Given the description of an element on the screen output the (x, y) to click on. 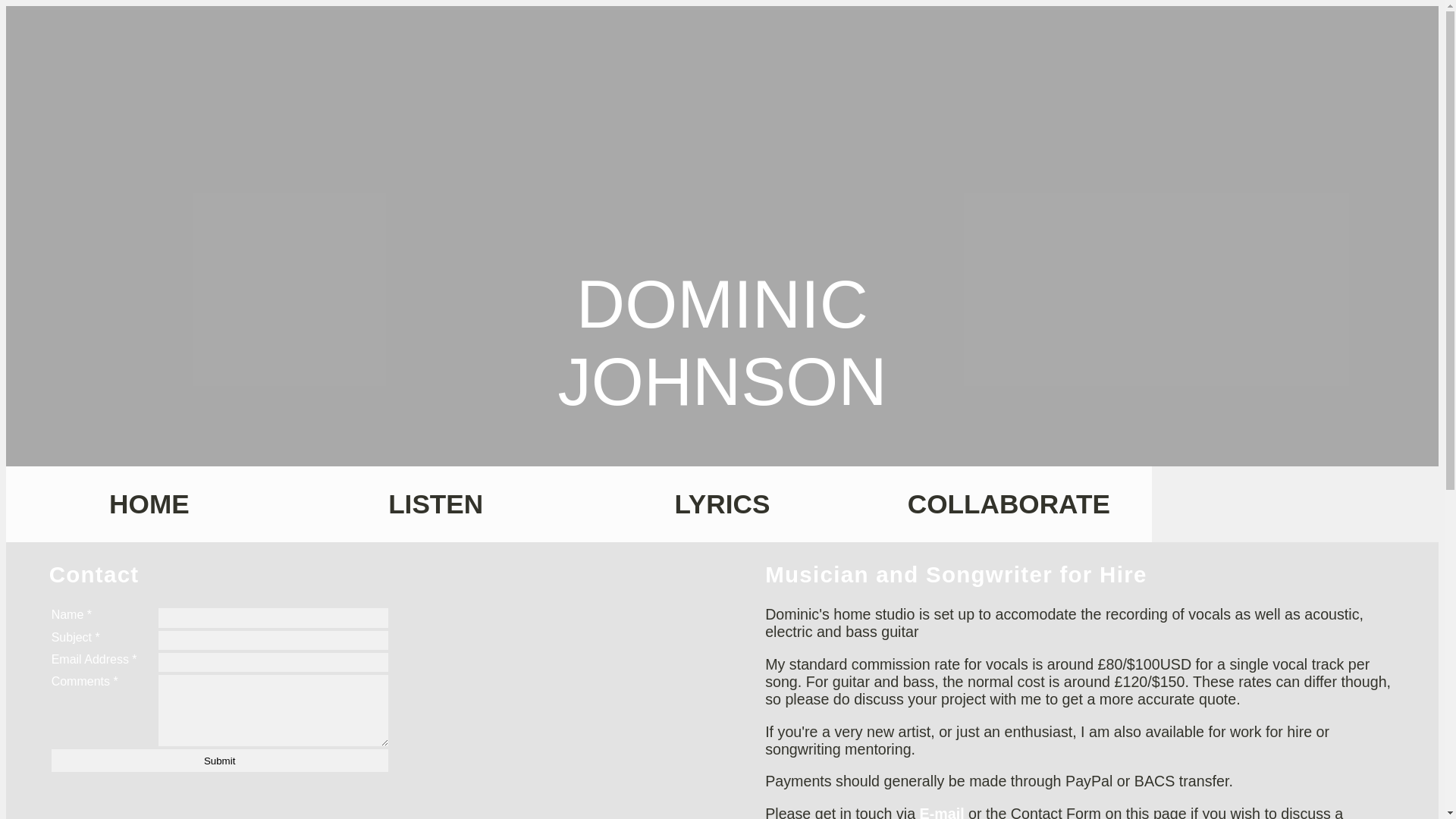
LISTEN (435, 504)
Submit (219, 760)
COLLABORATE (1007, 504)
LYRICS (722, 504)
Submit (219, 760)
HOME (148, 504)
E-mail (941, 812)
